Given the description of an element on the screen output the (x, y) to click on. 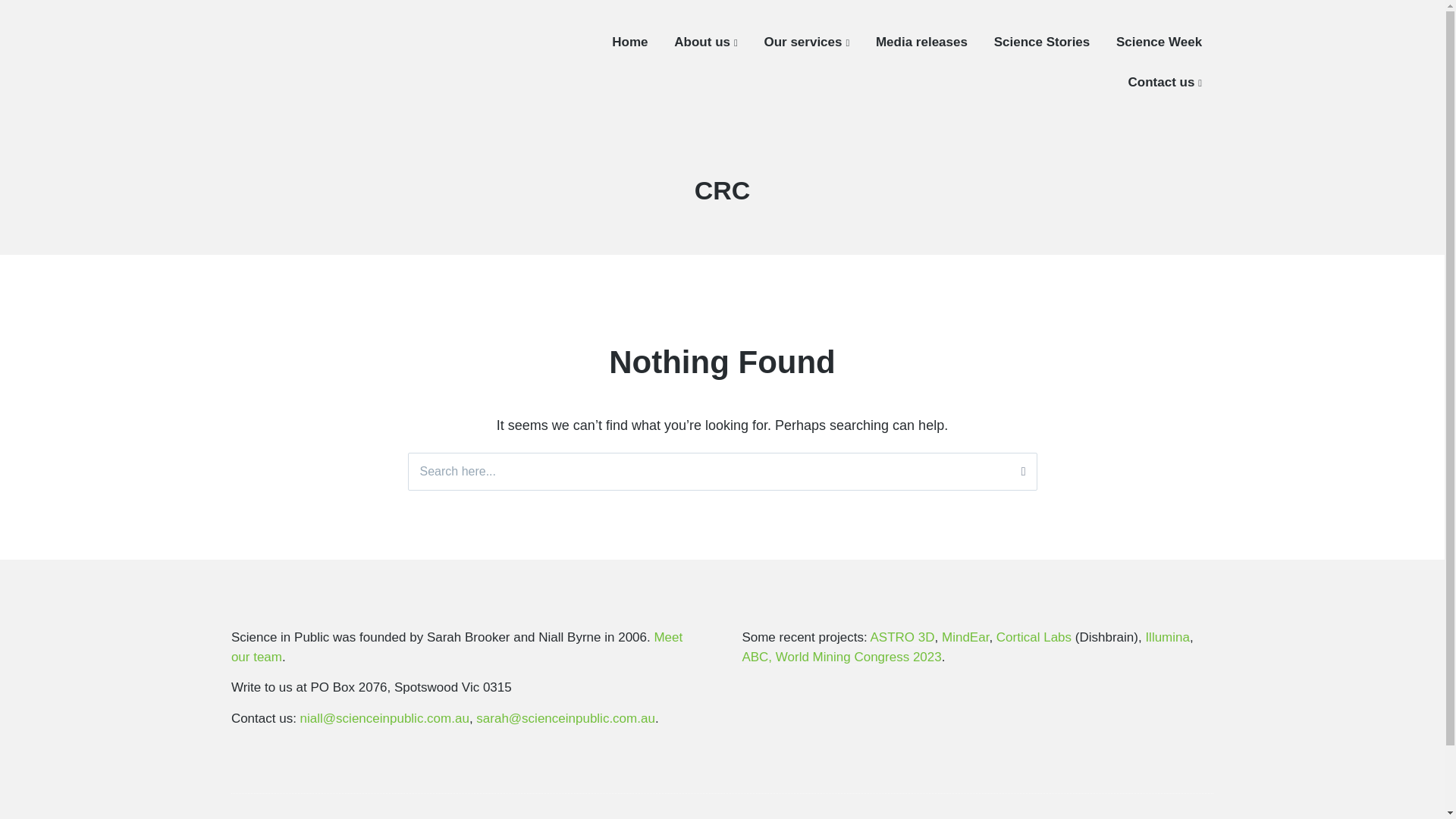
Science Week (1159, 42)
Science Stories (1042, 42)
Contact us (1165, 82)
Media releases (922, 42)
Our services (805, 42)
About us (705, 42)
Home (629, 42)
Science In Public (312, 78)
